Given the description of an element on the screen output the (x, y) to click on. 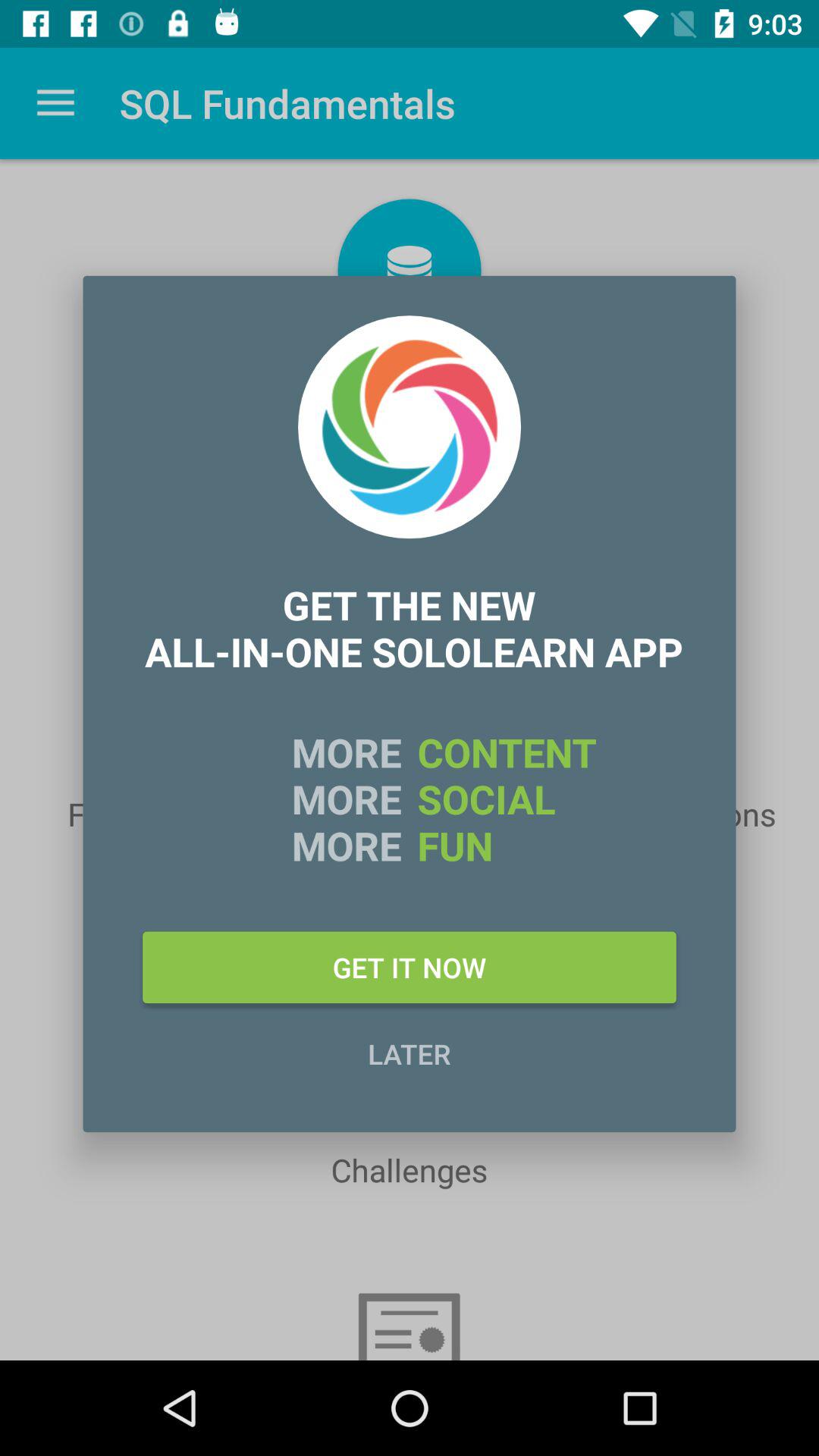
open the icon below the more
more
more item (409, 967)
